Given the description of an element on the screen output the (x, y) to click on. 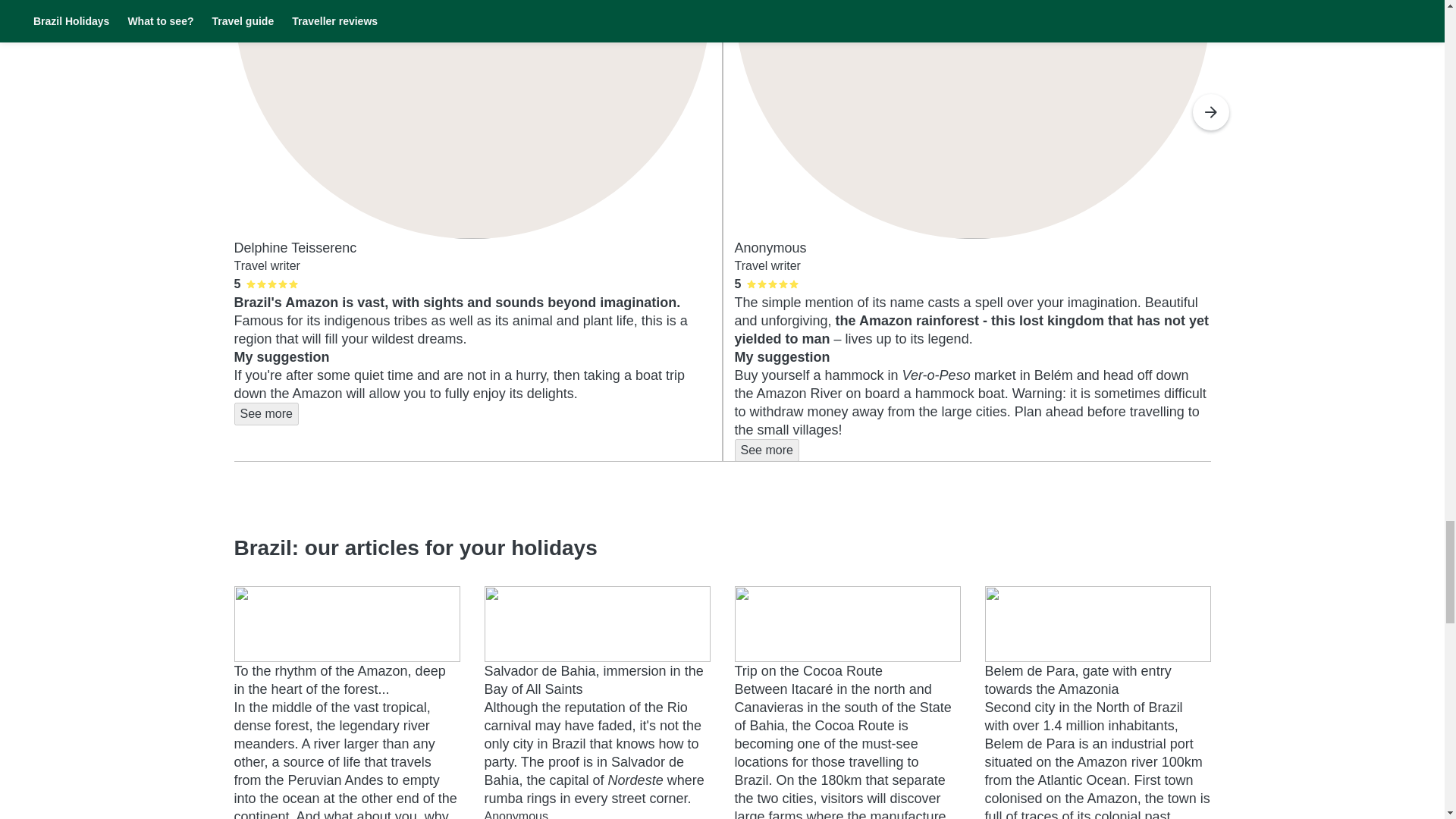
Trip on the Cocoa Route (807, 670)
Salvador de Bahia, immersion in the Bay of All Saints (593, 679)
See more (765, 449)
Belem de Para, gate with entry towards the Amazonia (1077, 679)
See more (265, 413)
